Given the description of an element on the screen output the (x, y) to click on. 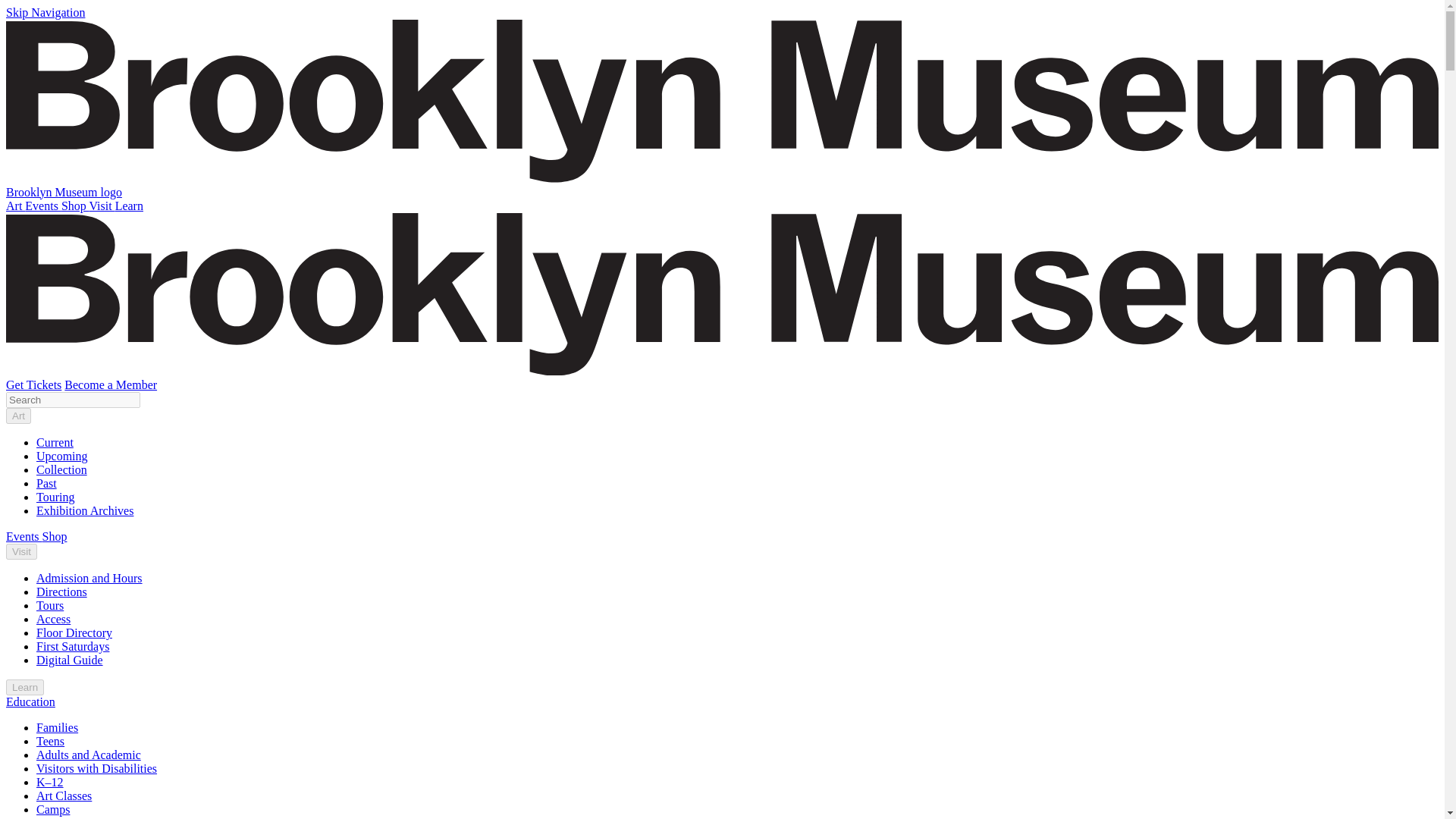
Art (17, 415)
First Saturdays (72, 645)
Events (42, 205)
Learn (24, 687)
Current (55, 441)
Directions (61, 591)
Upcoming (61, 455)
Get Tickets (33, 384)
Shop (54, 535)
Events (23, 535)
Admission and Hours (89, 577)
Tours (50, 604)
Art (14, 205)
Art Classes (63, 795)
Learn (128, 205)
